Given the description of an element on the screen output the (x, y) to click on. 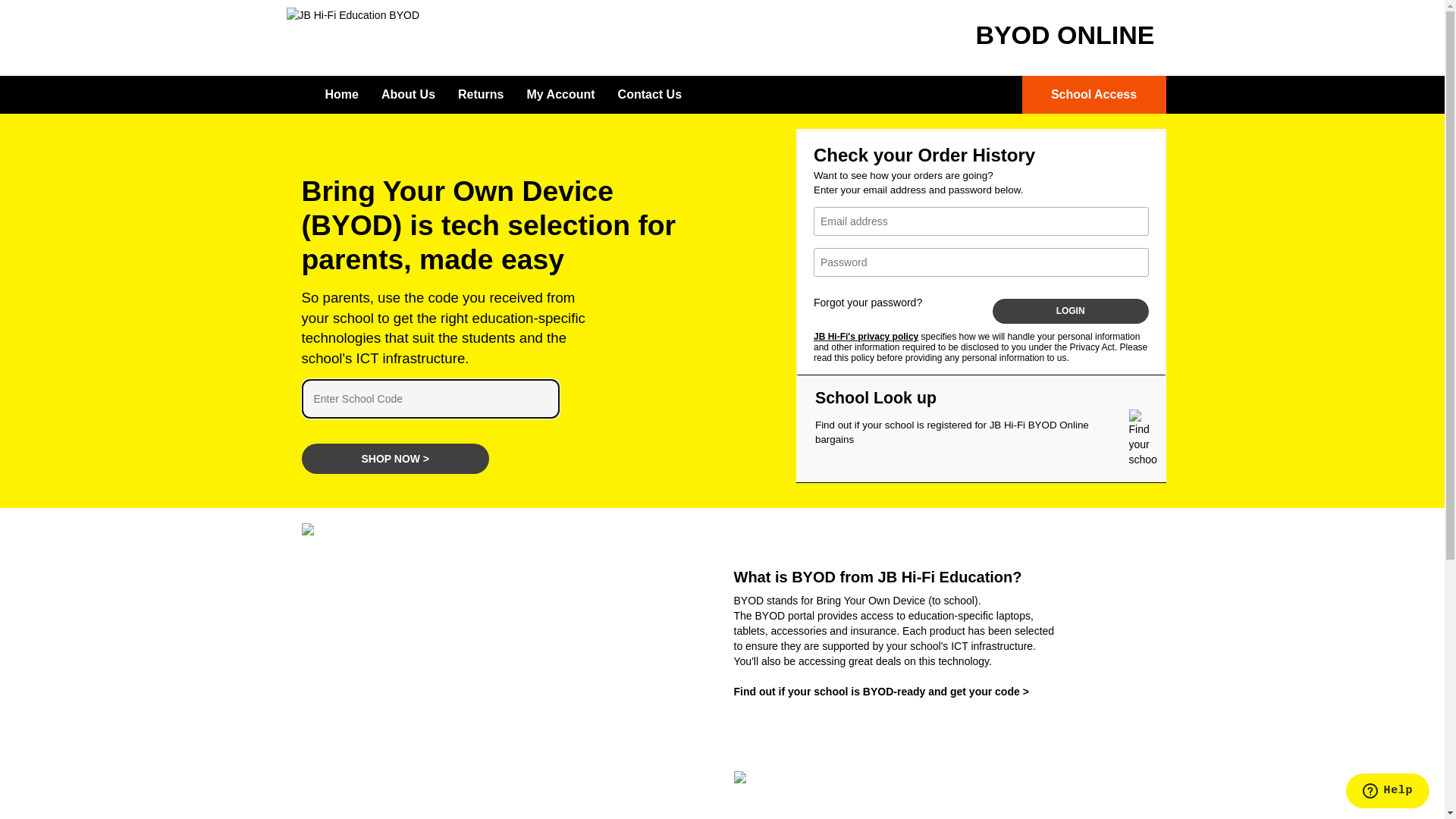
Home Element type: text (341, 94)
Find out if your school is BYOD-ready and get your code > Element type: text (881, 691)
Login Element type: text (1070, 310)
My Account Element type: text (560, 94)
School Access Element type: text (1094, 94)
Forgot your password? Element type: text (867, 302)
About Us Element type: text (408, 94)
Contact Us Element type: text (649, 94)
Shop now > Element type: text (395, 458)
JB Hi-Fi's privacy policy Element type: text (865, 336)
Returns Element type: text (480, 94)
Opens a widget where you can find more information Element type: hover (1387, 792)
